Given the description of an element on the screen output the (x, y) to click on. 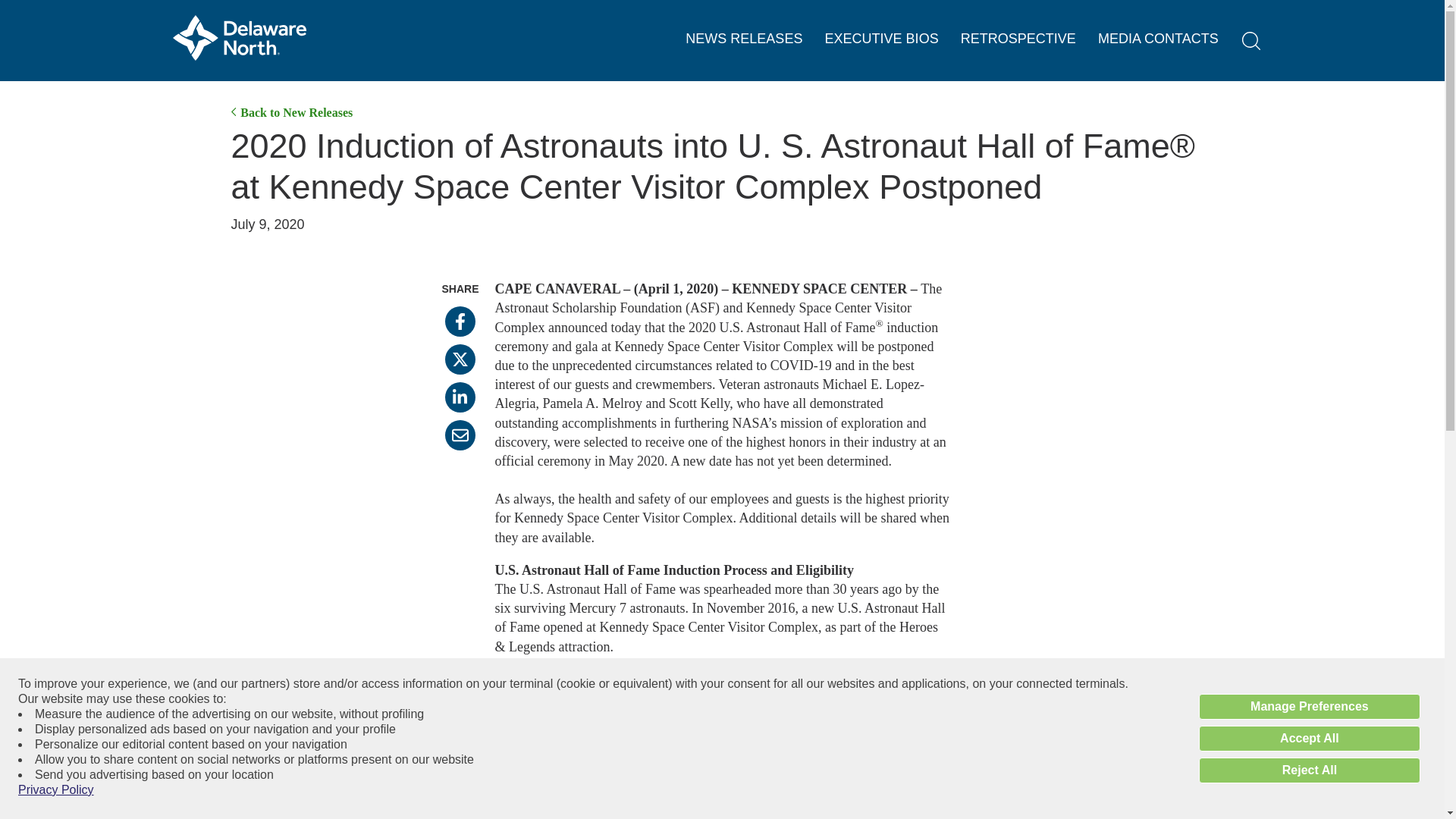
Manage Preferences (1309, 706)
Back to New Releases (291, 112)
RETROSPECTIVE (1017, 39)
NEWS RELEASES (743, 39)
Privacy Policy (55, 789)
MEDIA CONTACTS (1157, 39)
Reject All (1309, 769)
EXECUTIVE BIOS (882, 39)
Accept All (1309, 738)
